Given the description of an element on the screen output the (x, y) to click on. 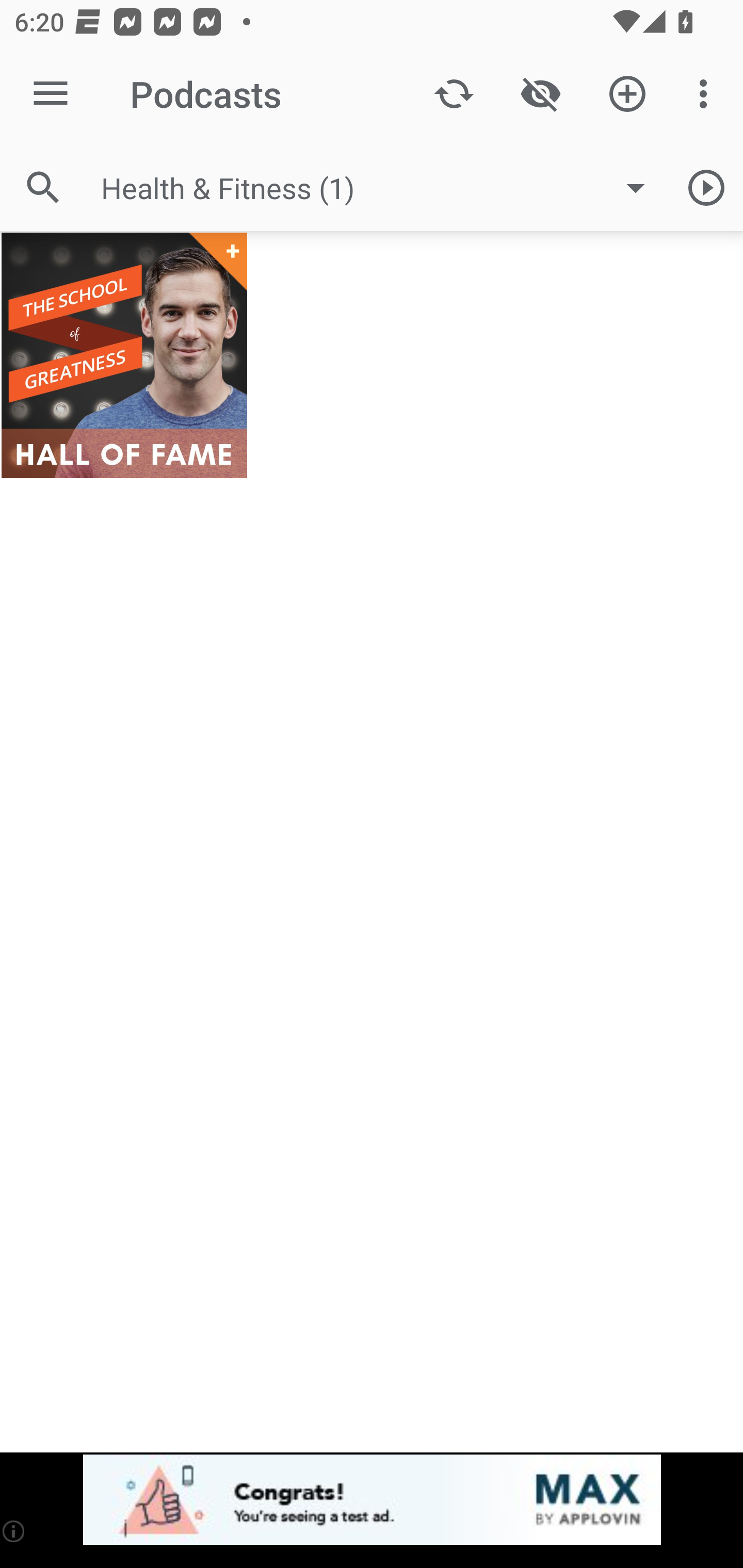
Open navigation sidebar (50, 93)
Update (453, 93)
Show / Hide played content (540, 93)
Add new Podcast (626, 93)
More options (706, 93)
Search (43, 187)
Health & Fitness (1) (382, 188)
The School of Greatness Hall of Fame + (124, 355)
app-monetization (371, 1500)
(i) (14, 1531)
